Given the description of an element on the screen output the (x, y) to click on. 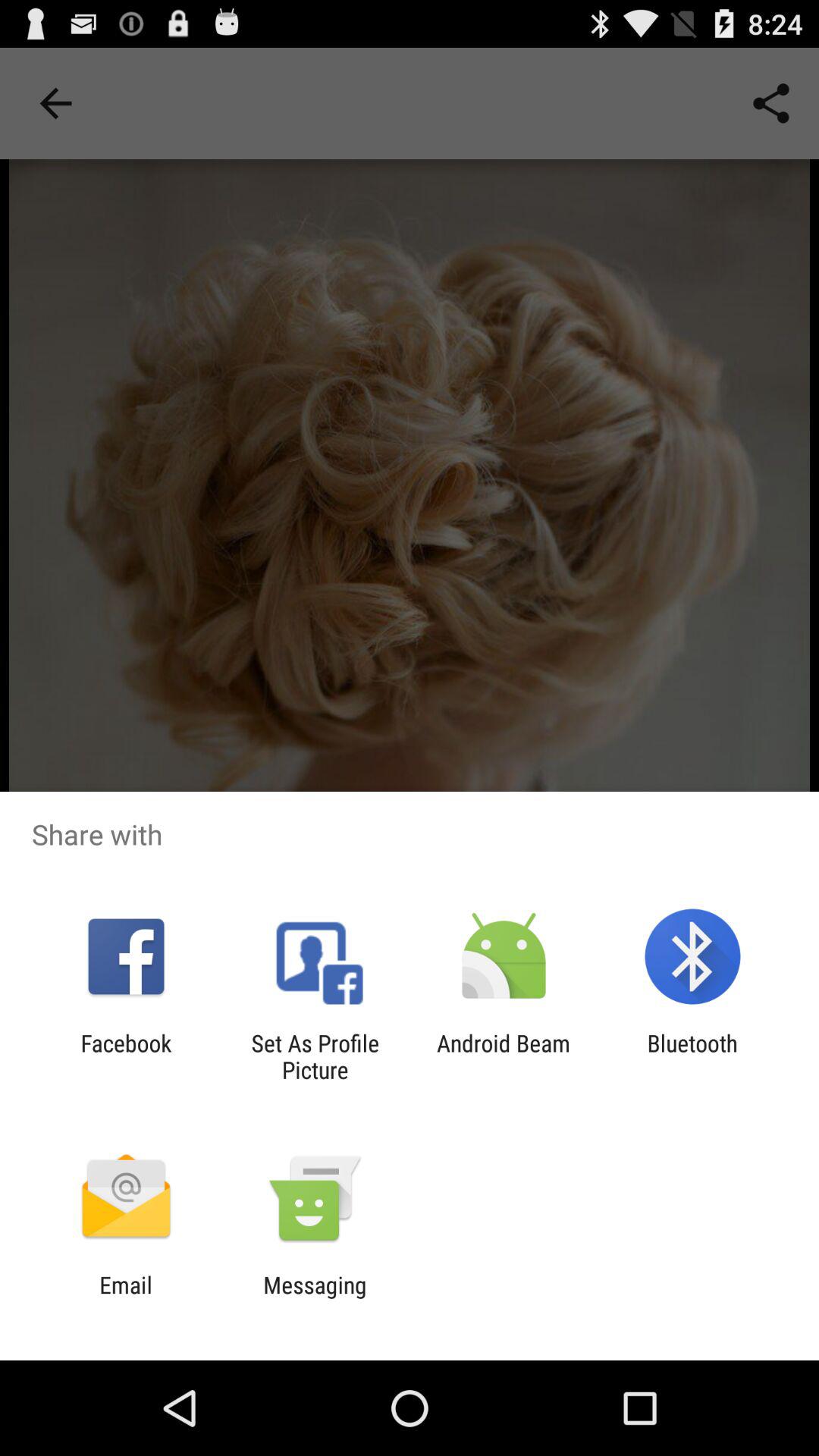
turn off item next to the messaging icon (125, 1298)
